Given the description of an element on the screen output the (x, y) to click on. 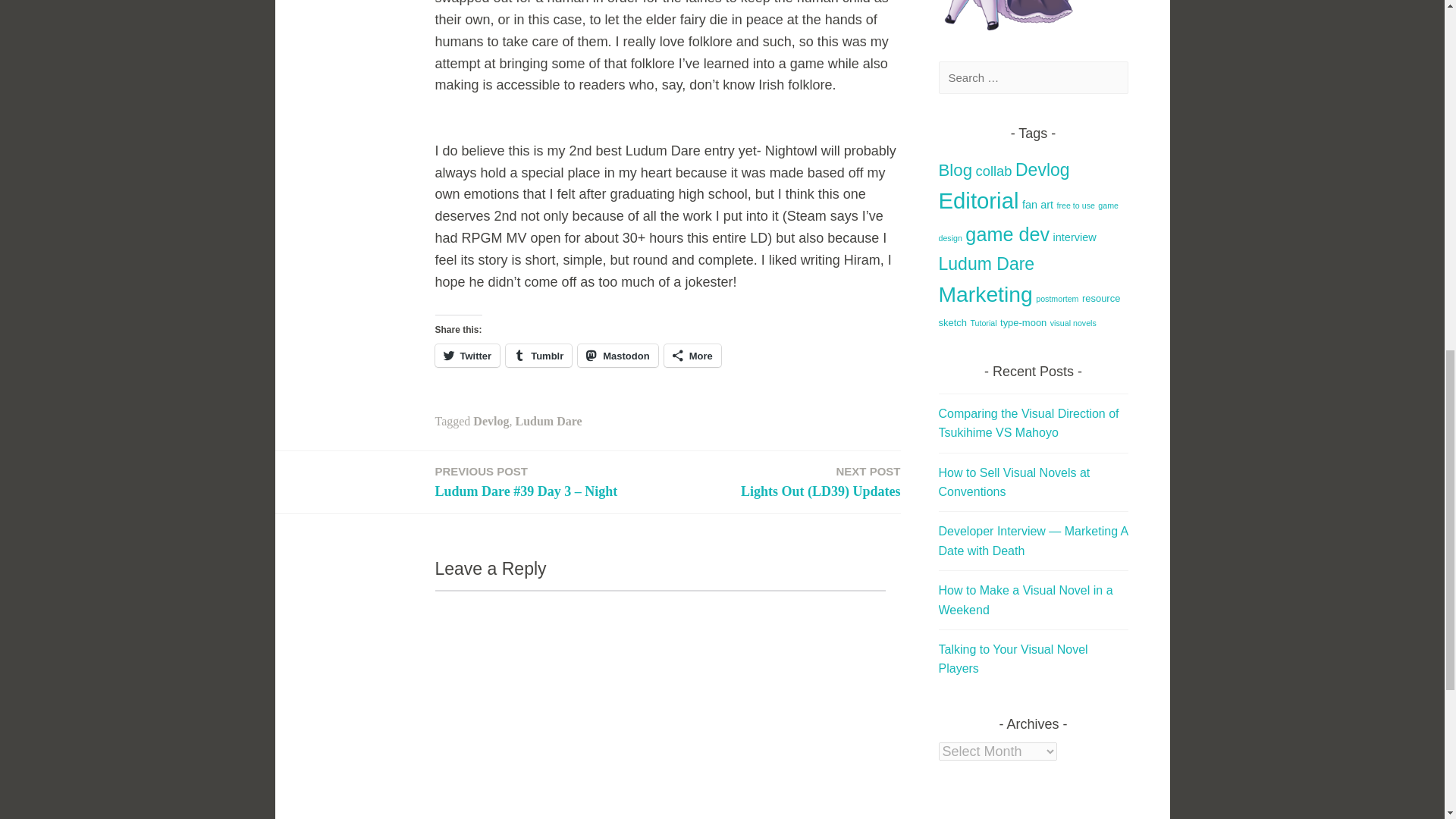
Tumblr (538, 354)
Mastodon (618, 354)
Devlog (490, 420)
Twitter (467, 354)
Click to share on Twitter (467, 354)
Click to share on Tumblr (538, 354)
More (691, 354)
Ludum Dare (547, 420)
Click to share on Mastodon (618, 354)
Comment Form (660, 704)
